Given the description of an element on the screen output the (x, y) to click on. 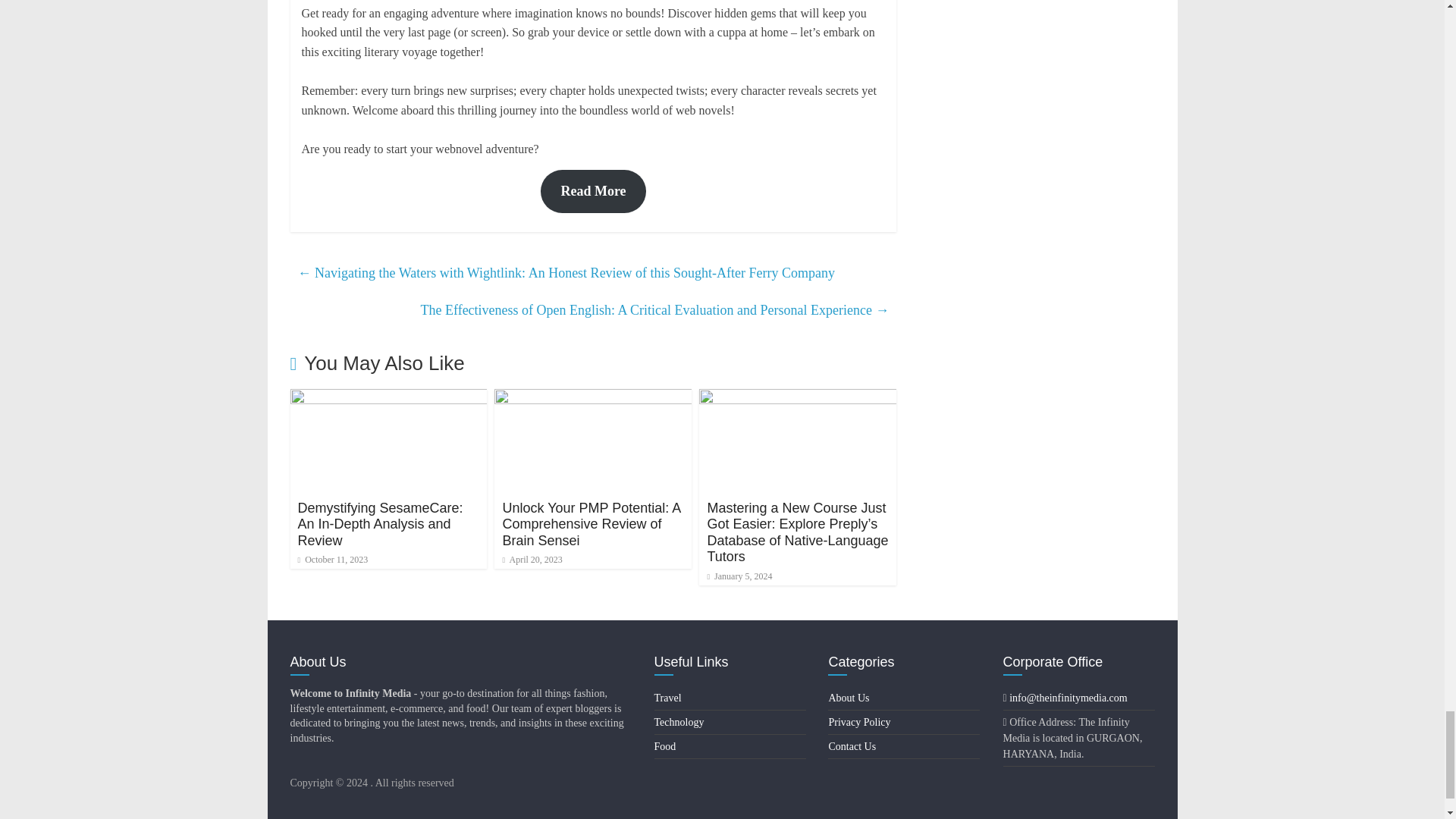
12:56 pm (332, 559)
7:56 am (532, 559)
October 11, 2023 (332, 559)
Demystifying SesameCare: An In-Depth Analysis and Review (387, 398)
Demystifying SesameCare: An In-Depth Analysis and Review (380, 523)
Read More (592, 190)
6:41 am (738, 575)
Demystifying SesameCare: An In-Depth Analysis and Review (380, 523)
